Given the description of an element on the screen output the (x, y) to click on. 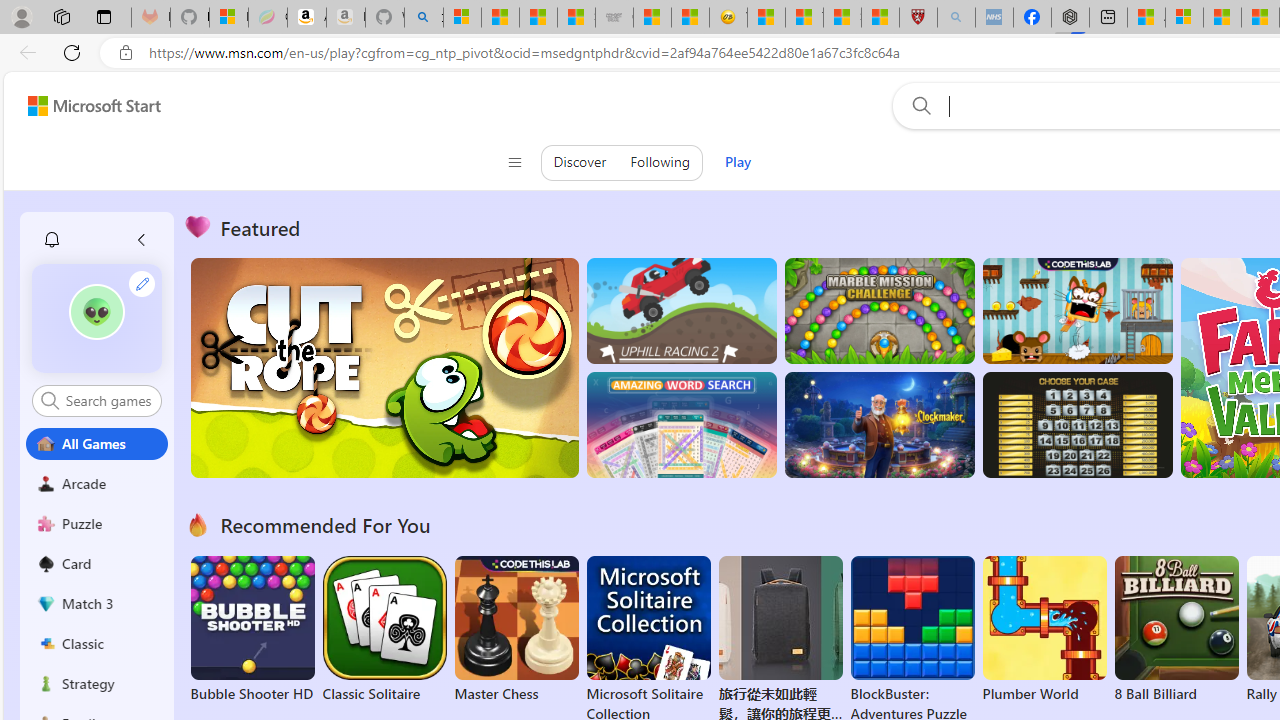
Amazing Word Search (681, 425)
Clockmaker (879, 425)
Bubble Shooter HD (251, 629)
AutomationID: control (108, 400)
Class: control icon-only (514, 162)
8 Ball Billiard (1176, 629)
Up Hill Racing 2 (681, 310)
